Given the description of an element on the screen output the (x, y) to click on. 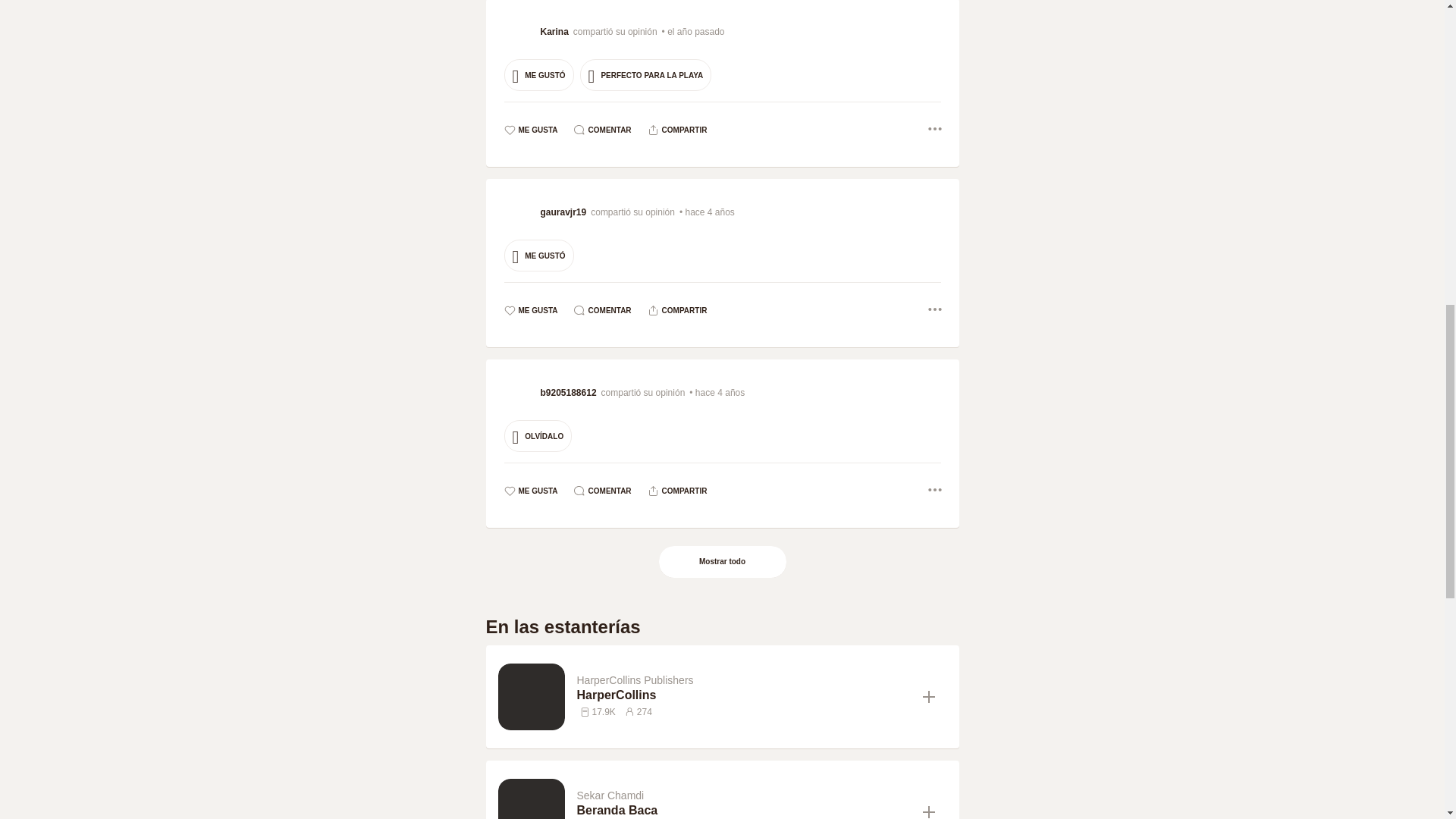
HarperCollins  (743, 694)
Mostrar todo (722, 562)
HarperCollins (743, 694)
Beranda Baca (743, 810)
Mostrar todo (722, 562)
Beranda Baca (743, 810)
